Given the description of an element on the screen output the (x, y) to click on. 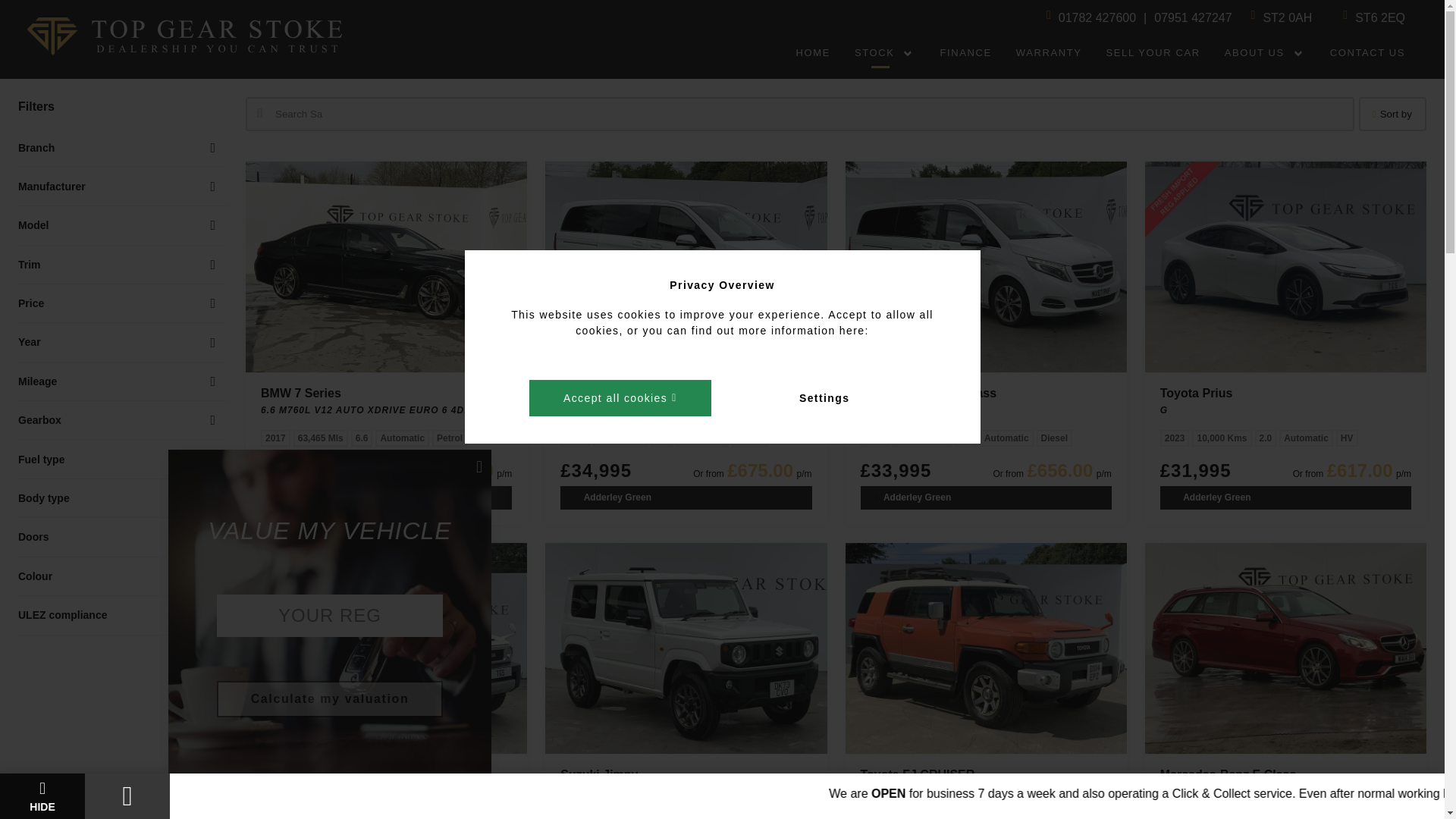
Sell Your Car (1153, 52)
Stock (880, 52)
ABOUT US (1260, 52)
Warranty (1049, 52)
ST6 2EQ (1380, 18)
WARRANTY (1049, 52)
HOME (813, 52)
Contact Us (1366, 52)
About Us (1260, 52)
01782 427600 (1096, 18)
SELL YOUR CAR (1153, 52)
Finance (966, 52)
CONTACT US (1366, 52)
STOCK (880, 52)
ST2 0AH (1286, 18)
